Given the description of an element on the screen output the (x, y) to click on. 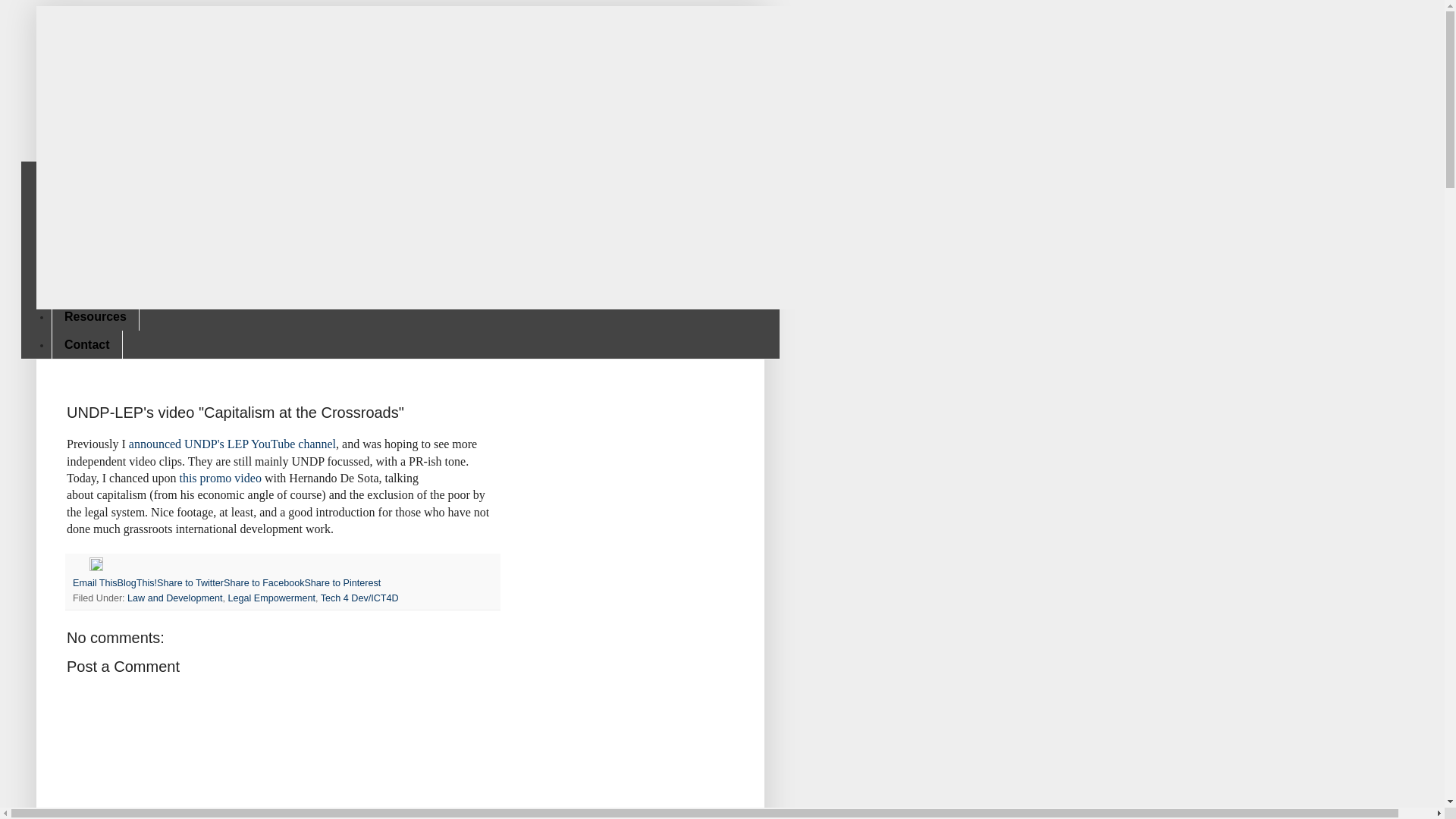
announced UNDP's LEP YouTube channel (232, 443)
Services (89, 231)
Legal Empowerment (271, 597)
Share to Twitter (190, 583)
Email Post (80, 567)
Share to Twitter (190, 583)
About (81, 203)
Share to Facebook (264, 583)
Contact (86, 344)
Projects (87, 260)
Resources (94, 316)
Email This (94, 583)
this promo video (221, 477)
Email This (94, 583)
Law and Development (175, 597)
